Given the description of an element on the screen output the (x, y) to click on. 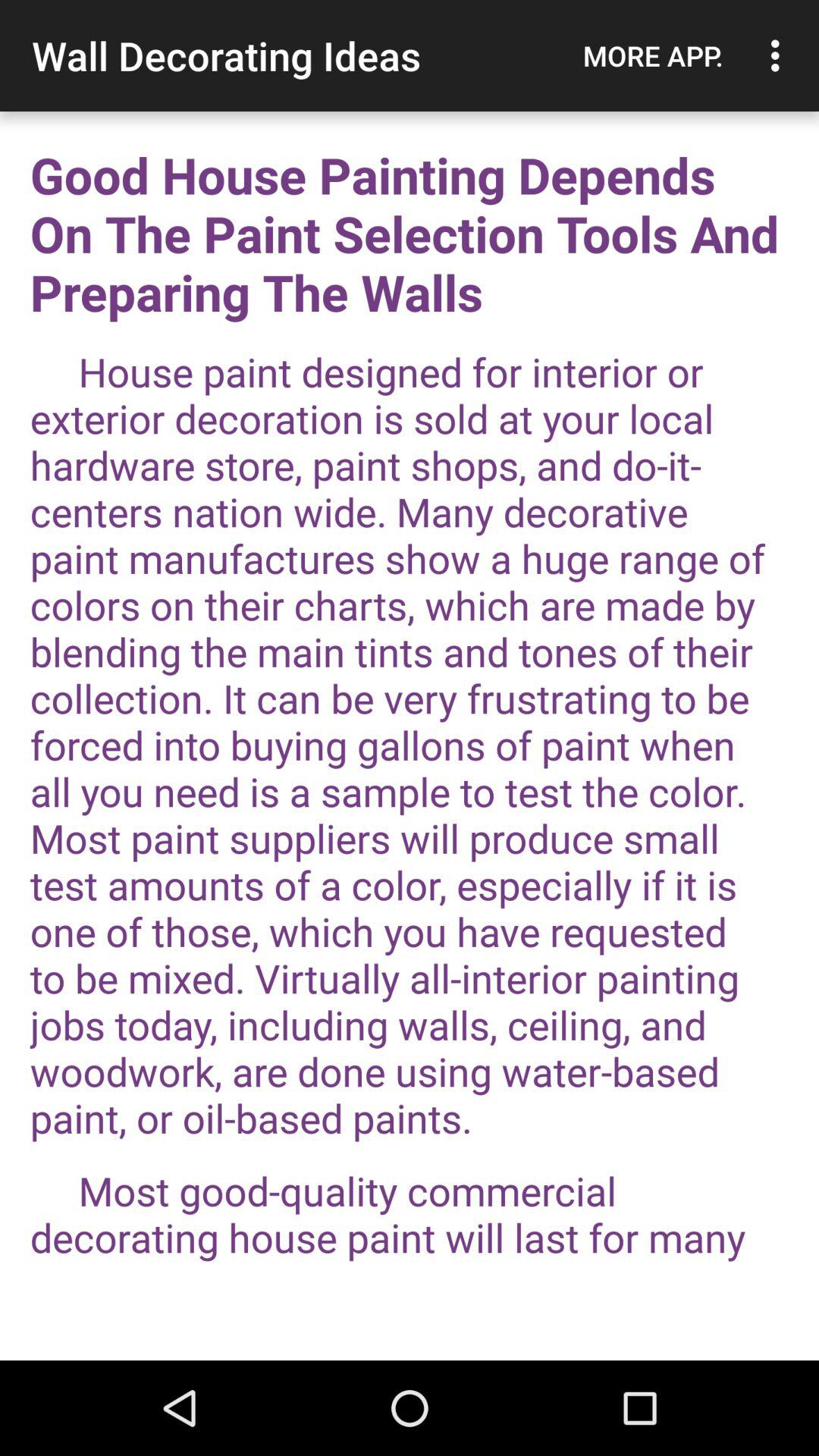
launch the more app. icon (653, 55)
